Given the description of an element on the screen output the (x, y) to click on. 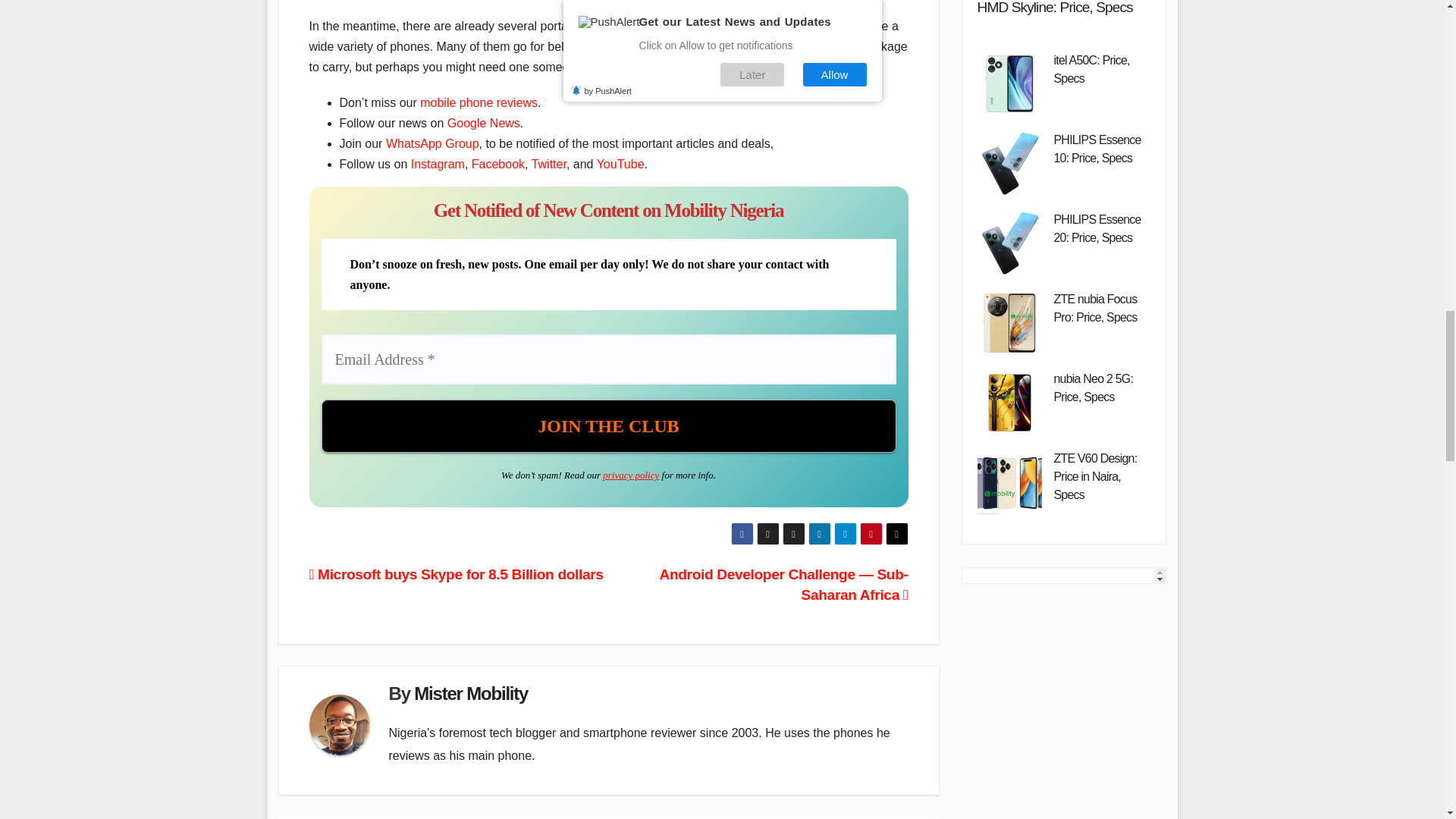
Instagram (437, 164)
Google News (482, 123)
Twitter (548, 164)
JOIN THE CLUB (608, 425)
Email Address (608, 359)
YouTube (620, 164)
privacy policy (630, 474)
mobile phone reviews (478, 102)
WhatsApp Group (432, 143)
JOIN THE CLUB (608, 425)
Facebook (497, 164)
